Given the description of an element on the screen output the (x, y) to click on. 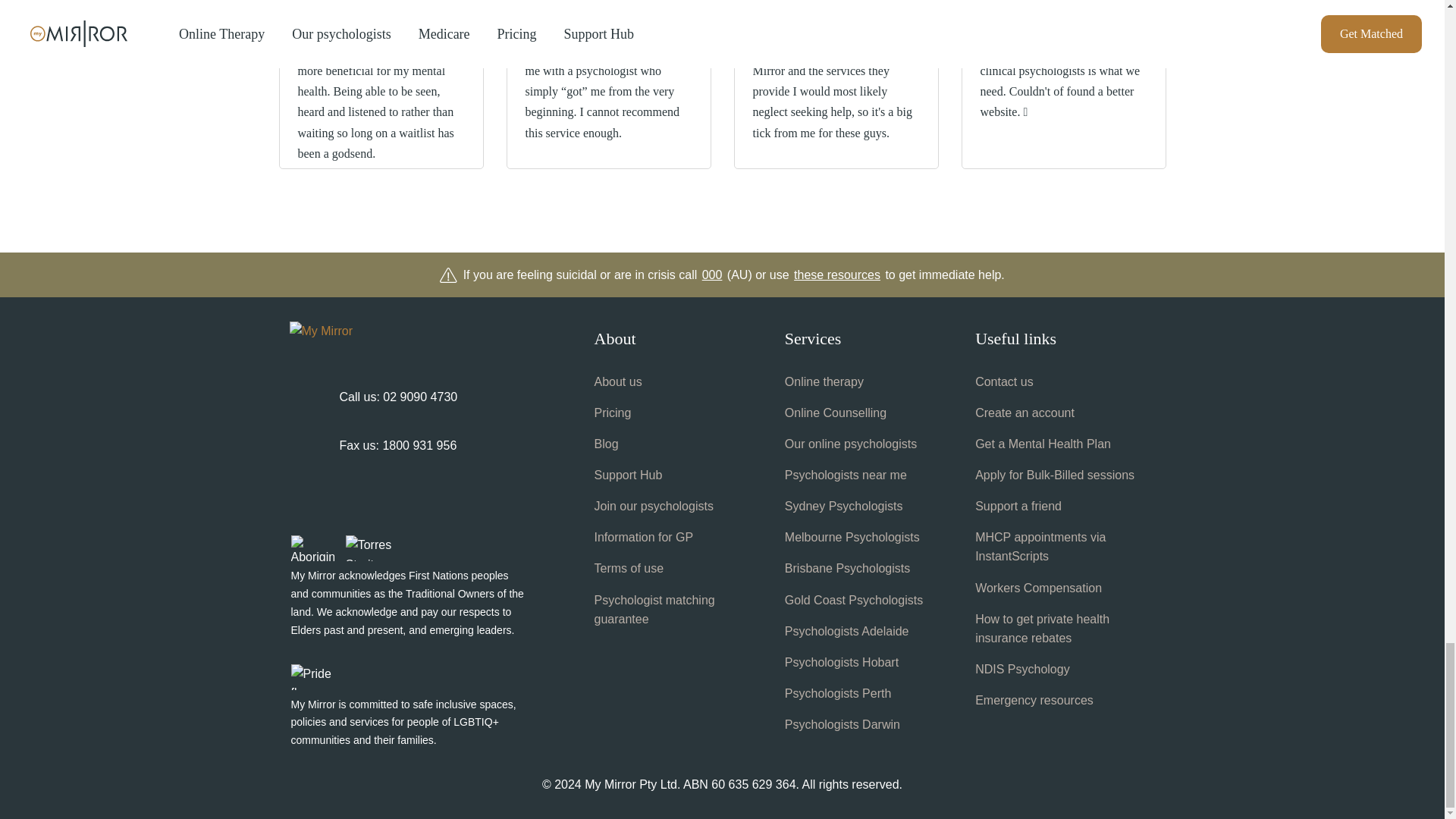
Blog (606, 443)
02 9090 4730 (419, 396)
About us (618, 381)
Pricing (612, 412)
Terms of use (628, 568)
Join our psychologists (653, 505)
Information for GP (644, 537)
000 (711, 274)
these resources (837, 274)
Support Hub (628, 475)
